Given the description of an element on the screen output the (x, y) to click on. 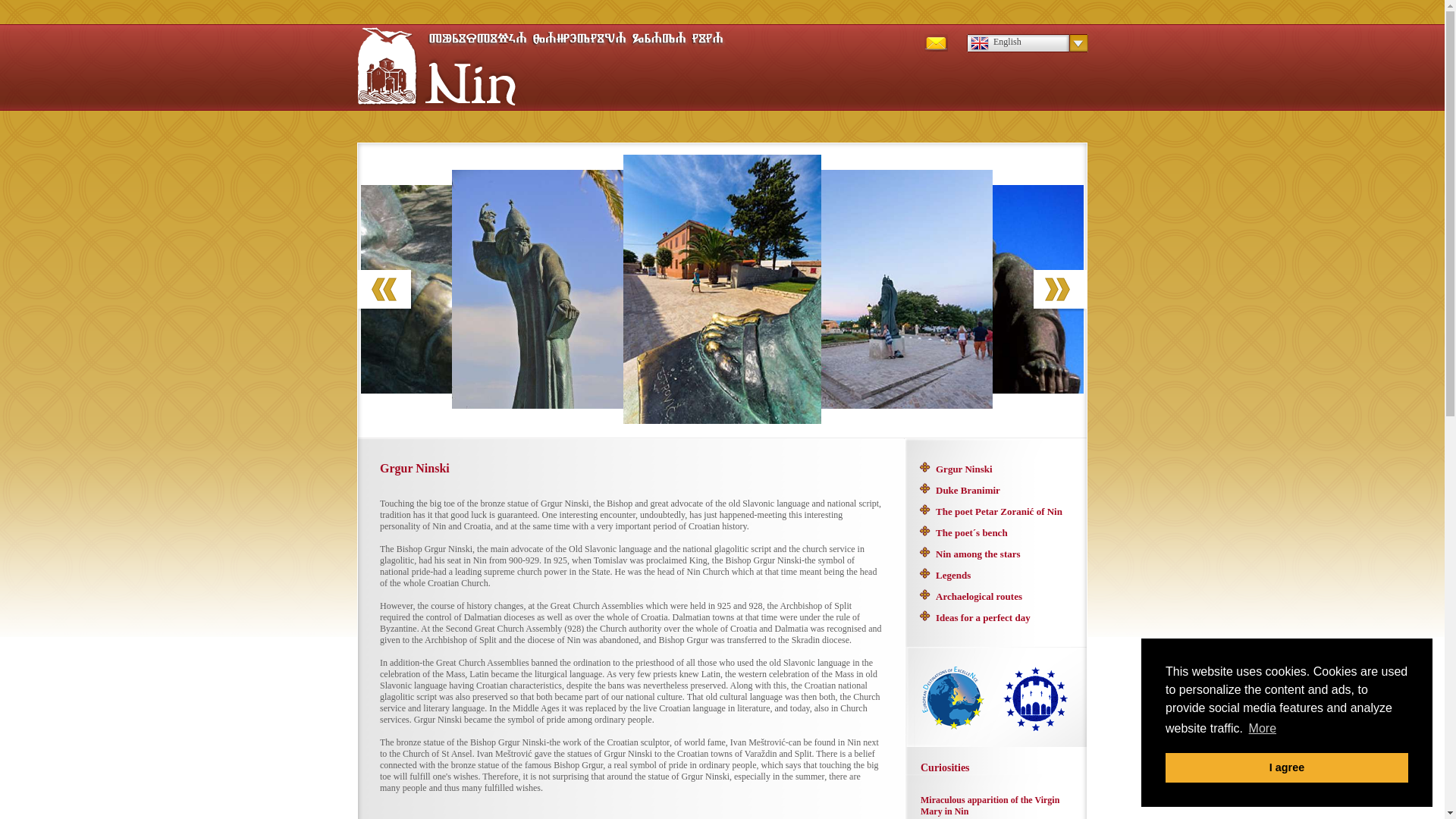
More (1262, 728)
I agree (1286, 767)
